Given the description of an element on the screen output the (x, y) to click on. 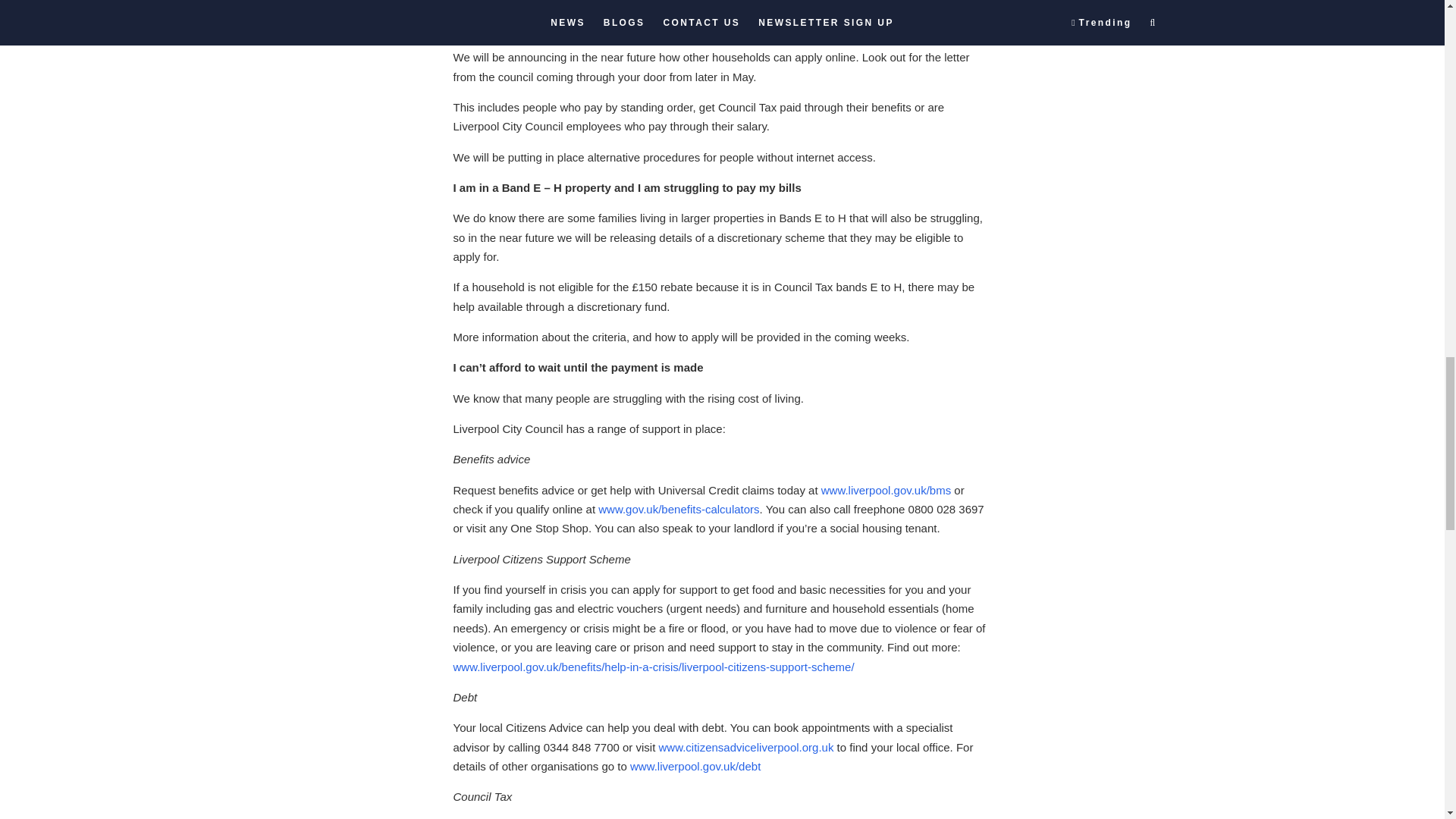
www.citizensadviceliverpool.org.uk (745, 747)
